Given the description of an element on the screen output the (x, y) to click on. 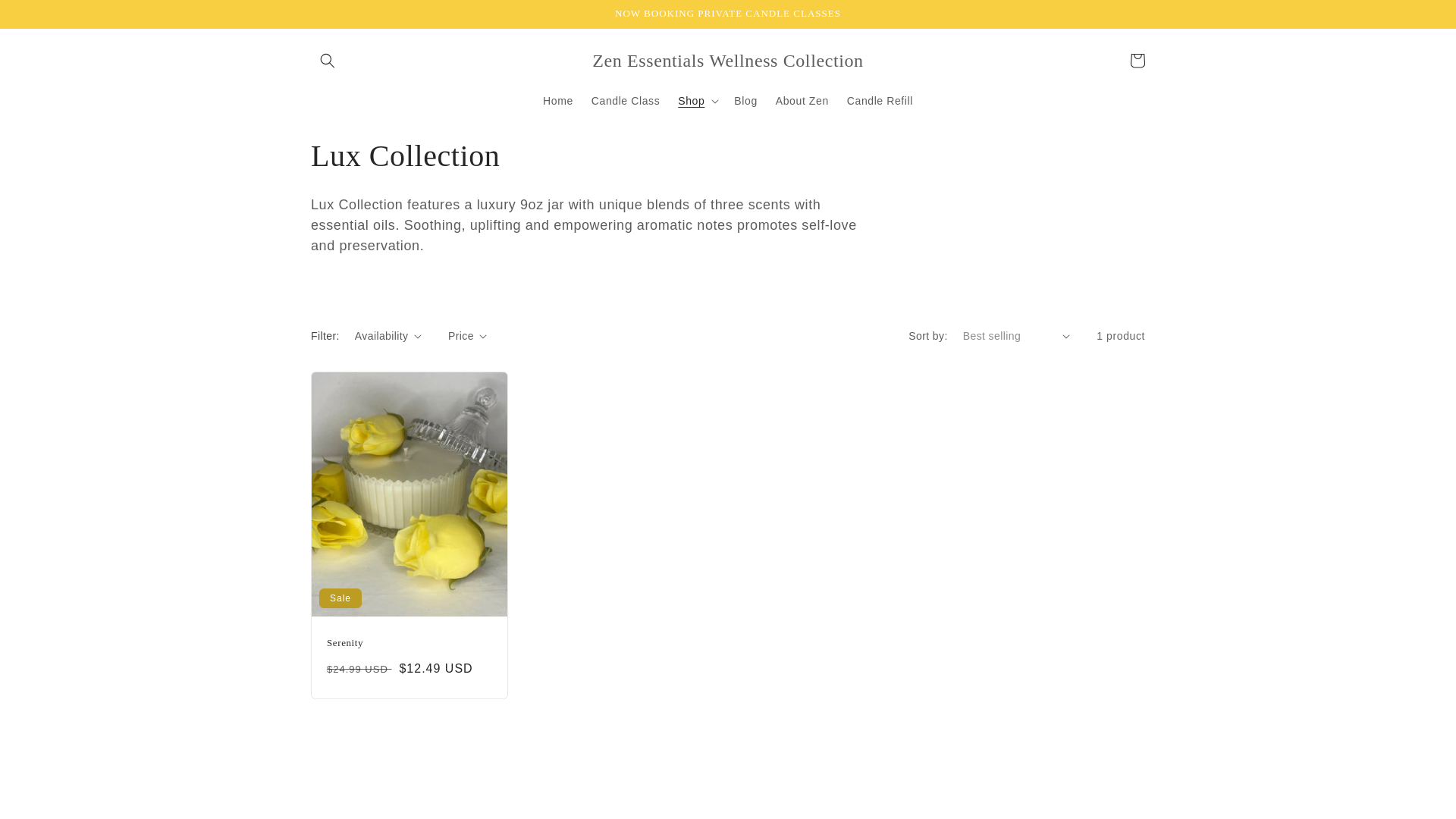
Skip to content (45, 17)
About Zen (802, 101)
Blog (745, 101)
Home (558, 101)
Zen Essentials Wellness Collection (727, 60)
Cart (1137, 60)
Candle Refill (879, 101)
Candle Class (625, 101)
